Given the description of an element on the screen output the (x, y) to click on. 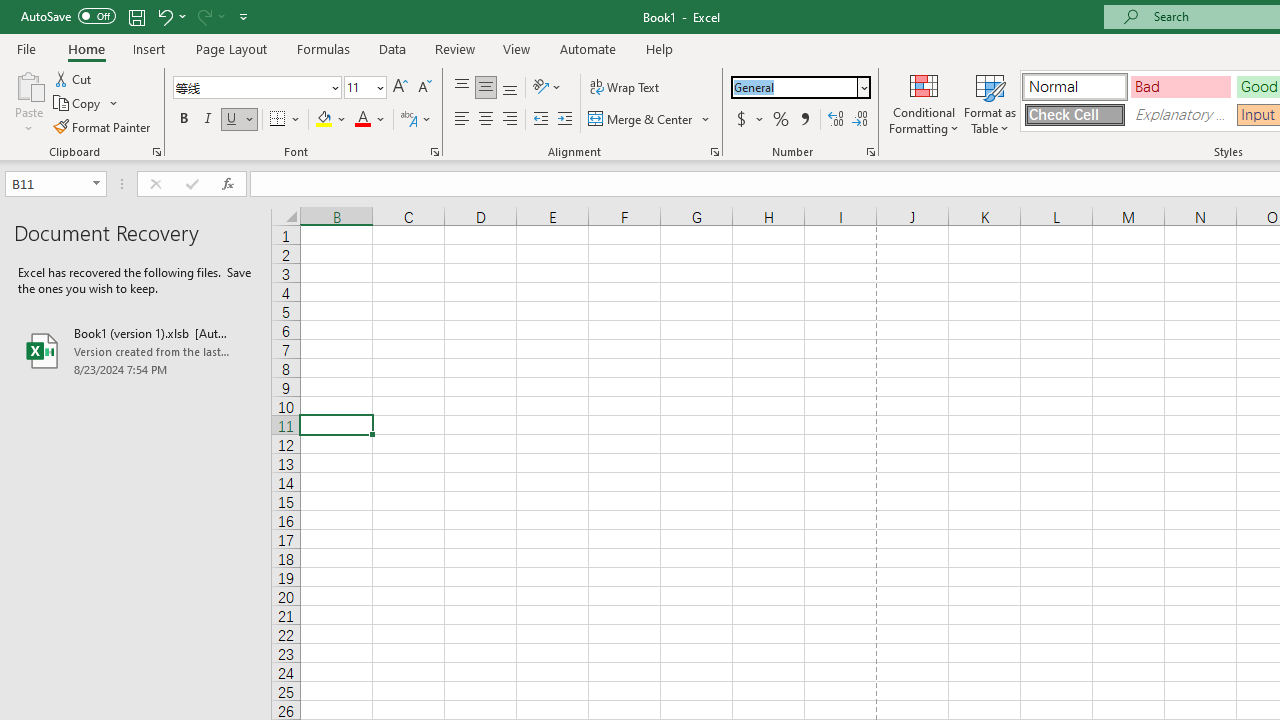
Merge & Center (641, 119)
Middle Align (485, 87)
Increase Decimal (836, 119)
